Given the description of an element on the screen output the (x, y) to click on. 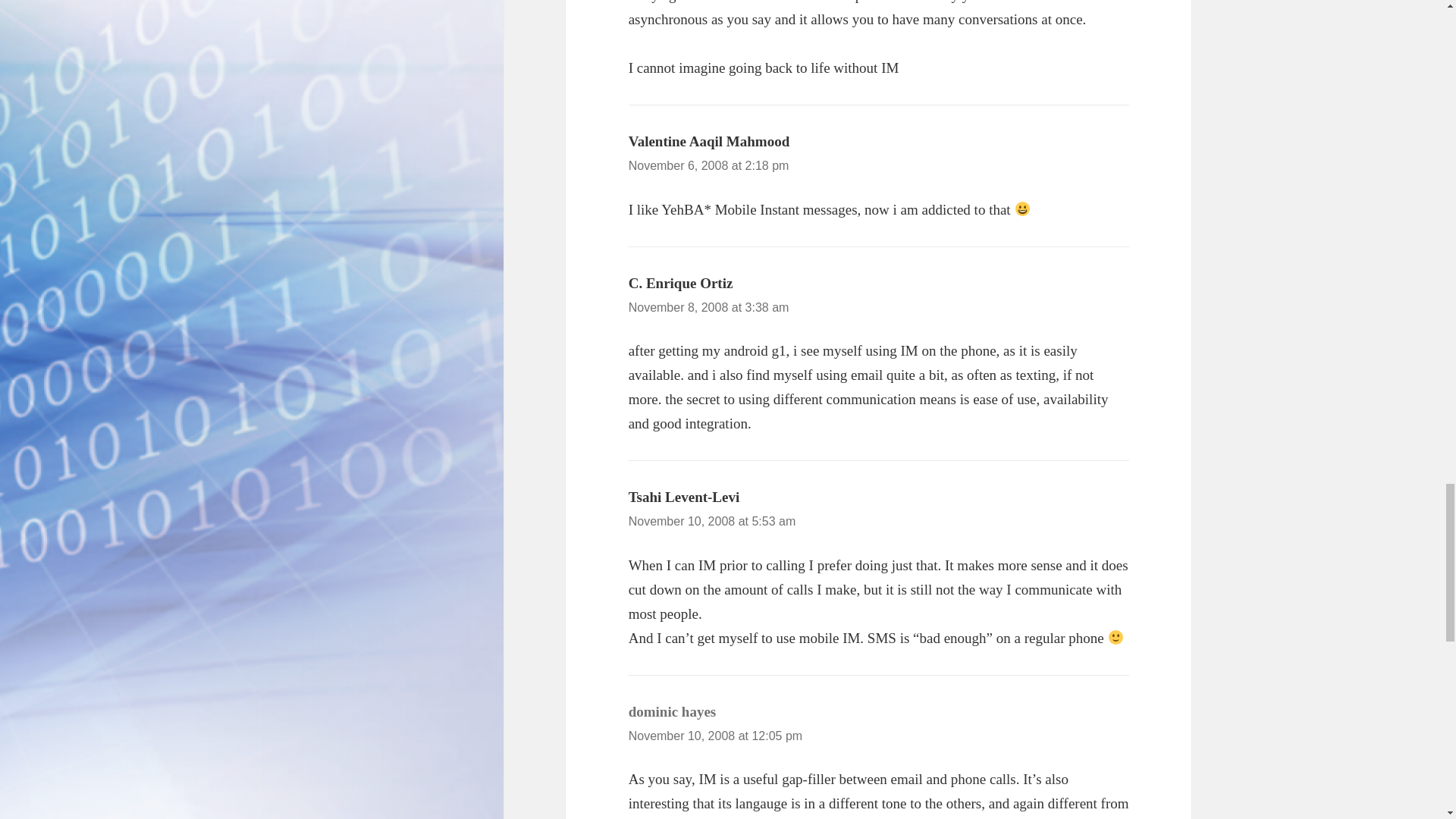
Tsahi Levent-Levi (683, 496)
C. Enrique Ortiz (680, 283)
November 8, 2008 at 3:38 am (708, 307)
November 10, 2008 at 5:53 am (712, 521)
Valentine Aaqil Mahmood (709, 141)
November 10, 2008 at 12:05 pm (715, 735)
November 6, 2008 at 2:18 pm (708, 164)
